Given the description of an element on the screen output the (x, y) to click on. 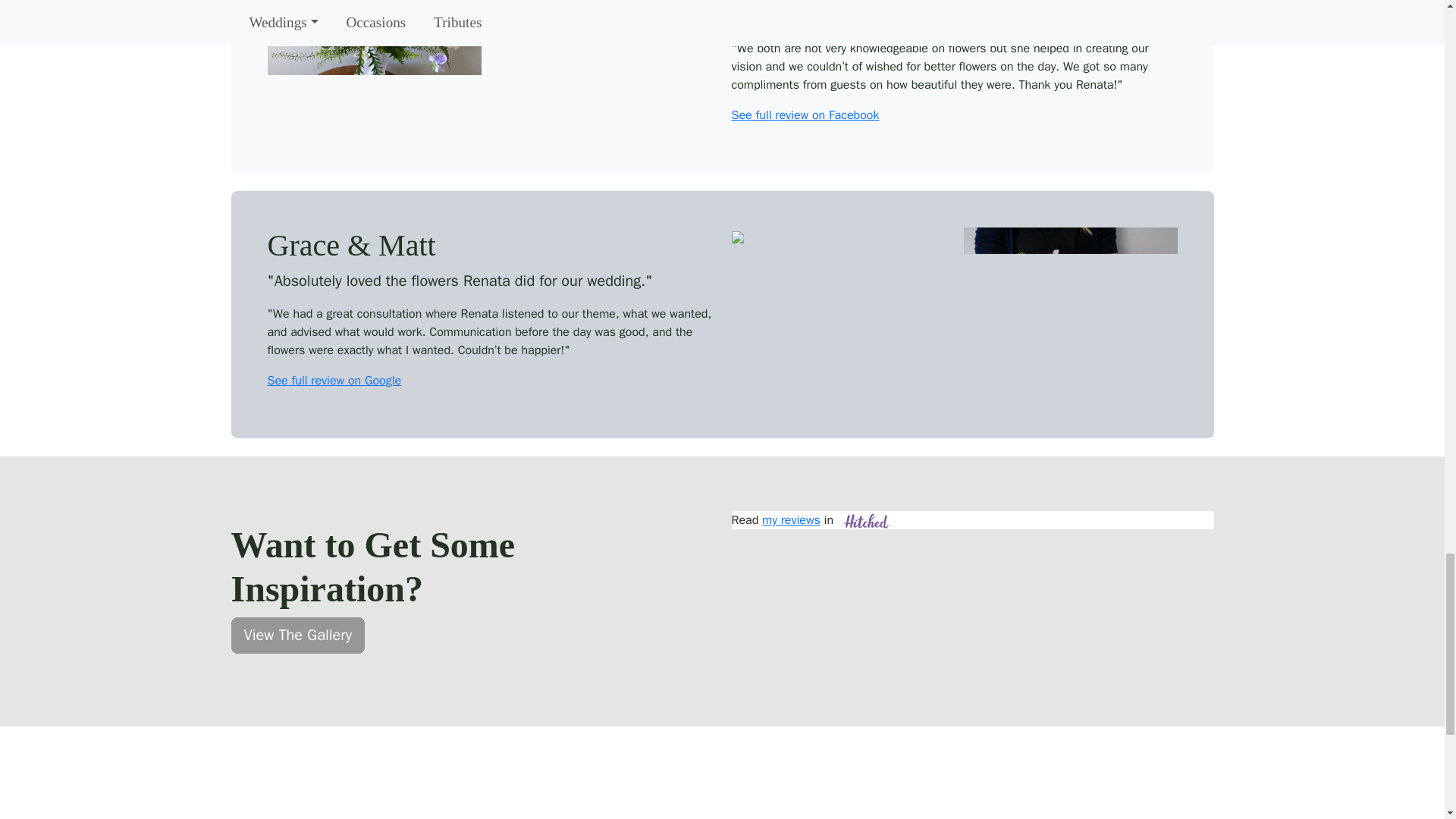
See full review on Google (333, 380)
my reviews (791, 519)
See full review on Facebook (804, 114)
View The Gallery (297, 635)
